Given the description of an element on the screen output the (x, y) to click on. 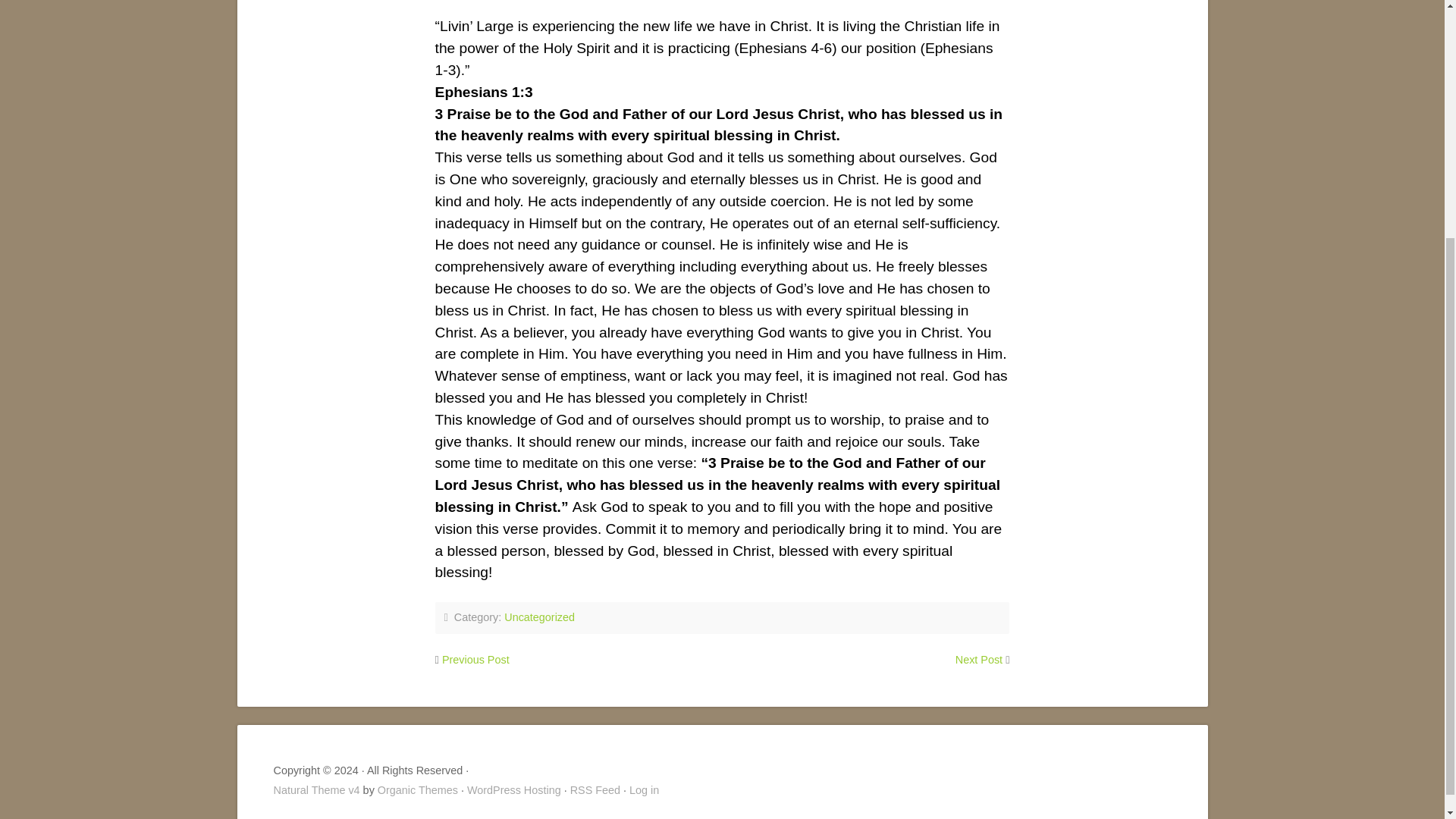
WordPress Hosting (513, 789)
Log in (643, 789)
Uncategorized (539, 616)
Next Post (979, 659)
Previous Post (475, 659)
Organic Themes (417, 789)
WordPress Hosting (513, 789)
RSS Feed (595, 789)
Natural Theme v4 (316, 789)
